Given the description of an element on the screen output the (x, y) to click on. 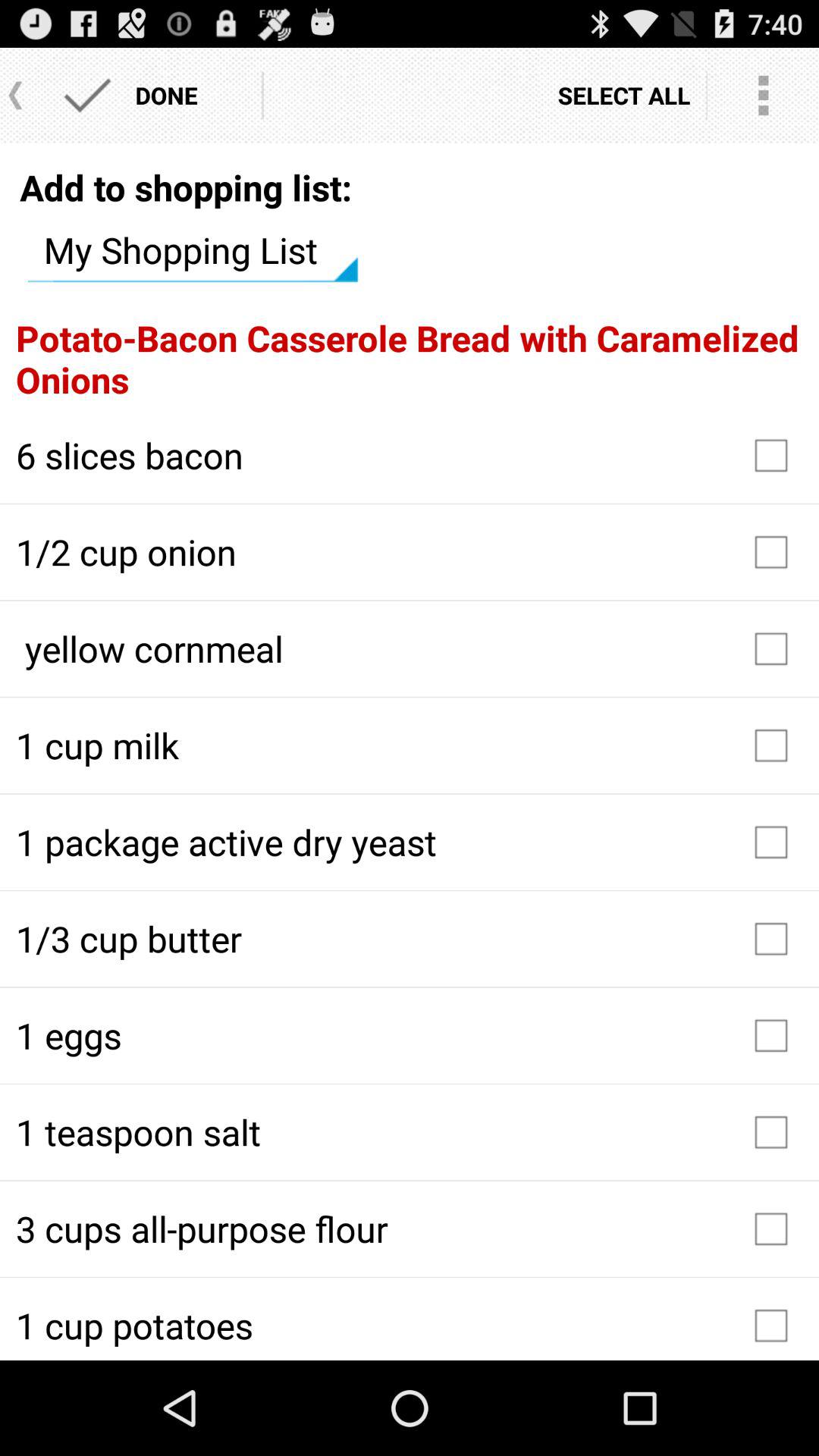
turn on the 3 cups all icon (409, 1228)
